Given the description of an element on the screen output the (x, y) to click on. 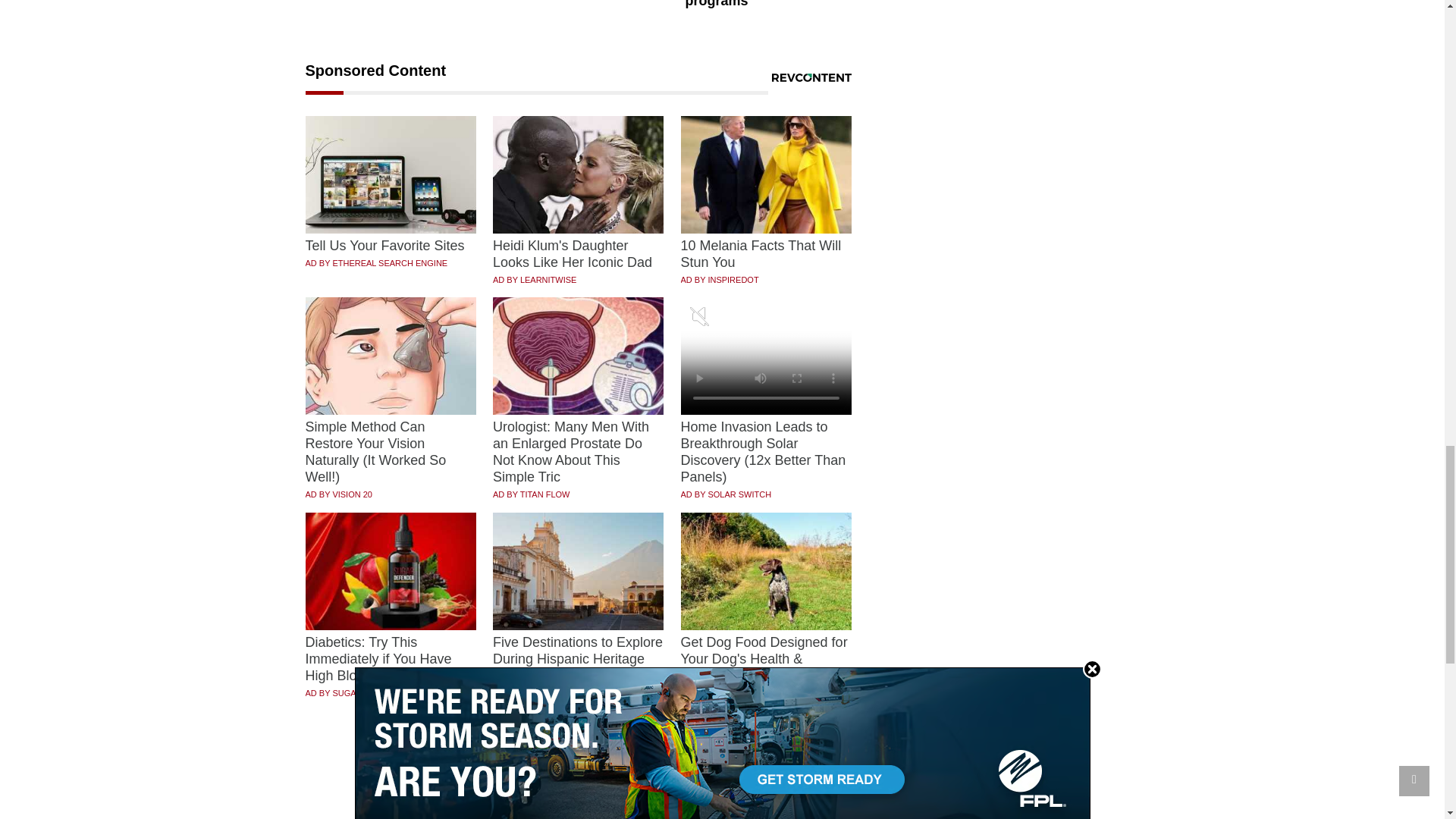
3rd party ad content (1010, 85)
3rd party ad content (1010, 289)
3rd party ad content (722, 802)
